Given the description of an element on the screen output the (x, y) to click on. 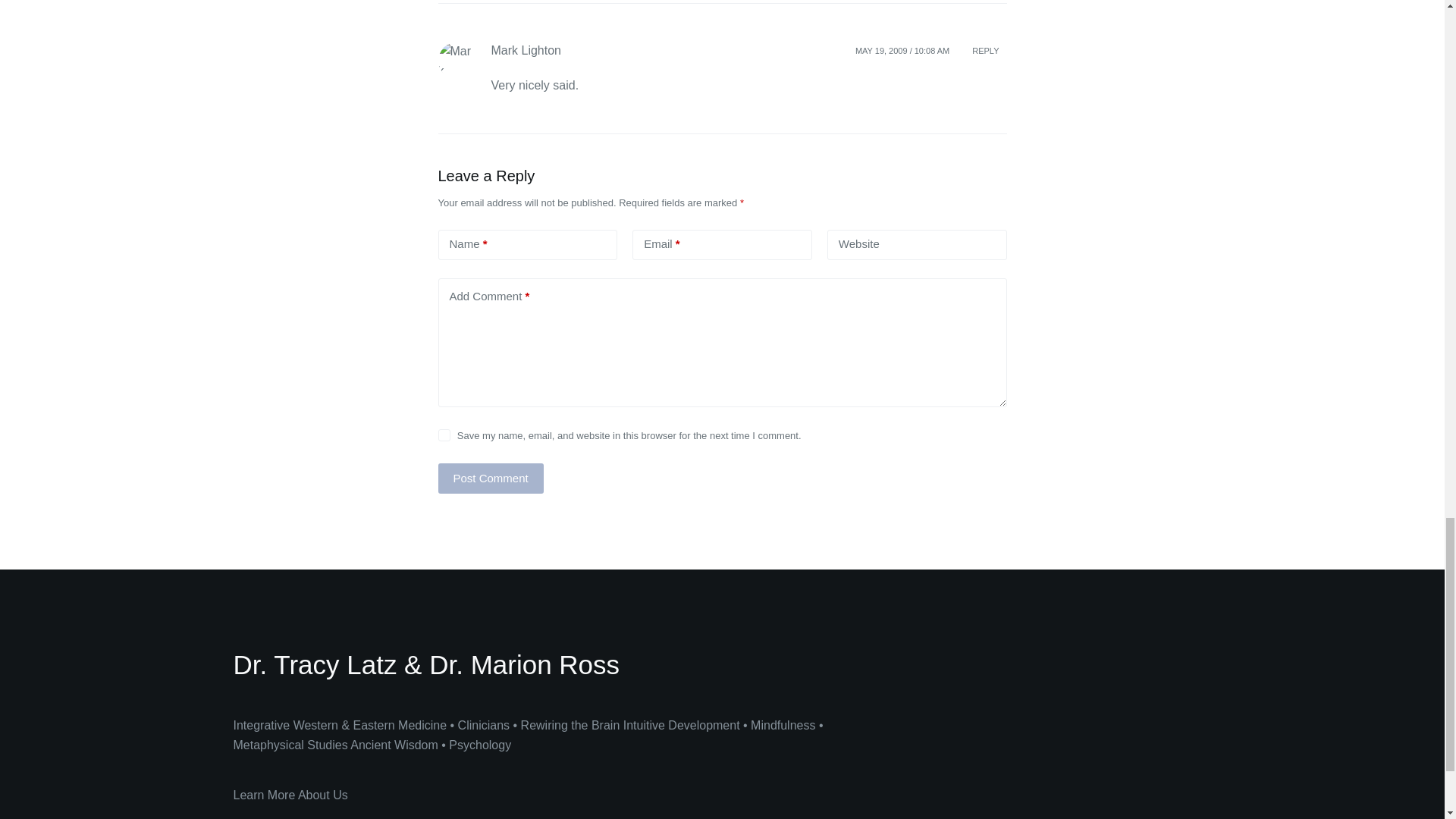
yes (443, 435)
